Given the description of an element on the screen output the (x, y) to click on. 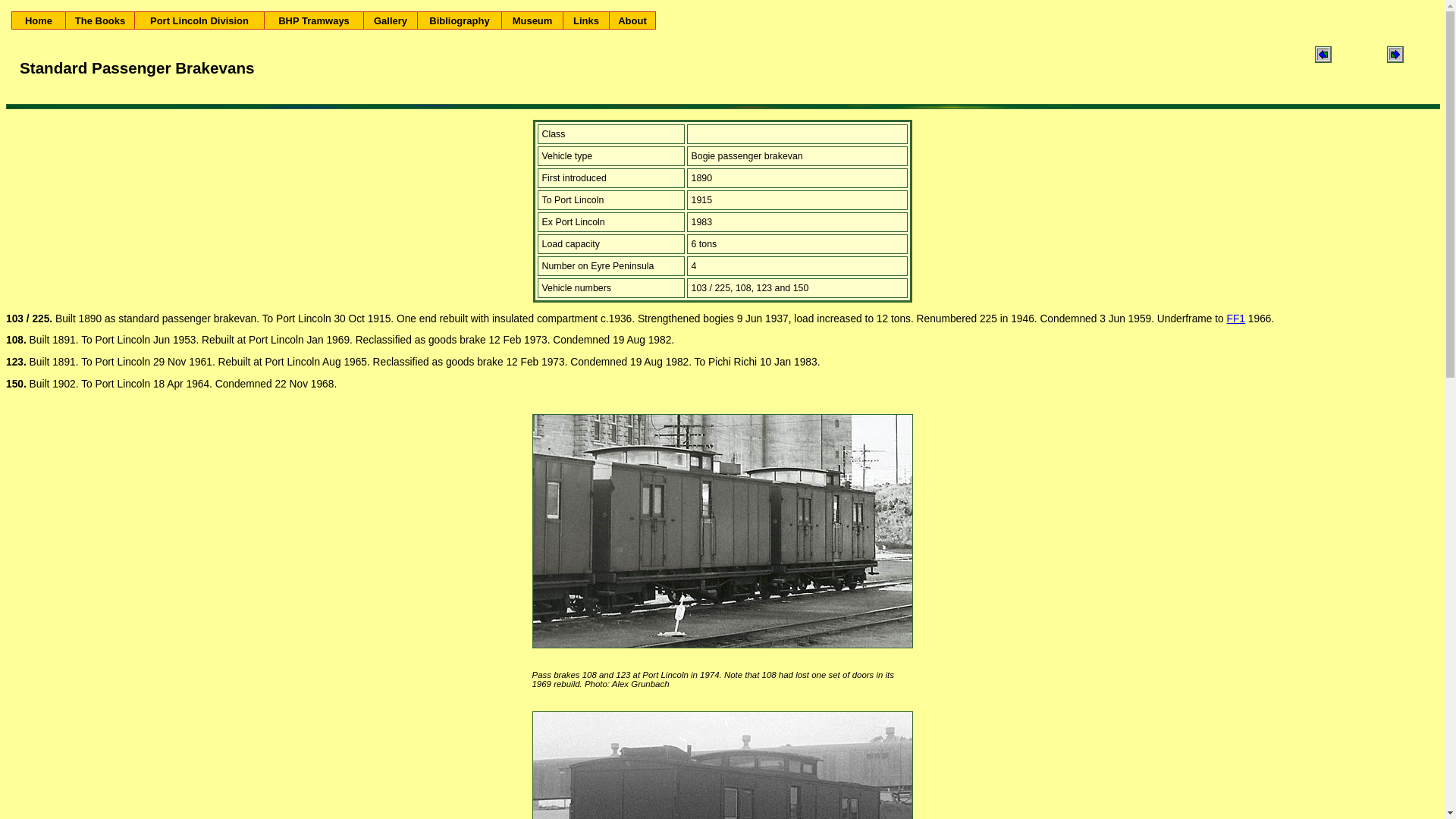
Gallery Element type: text (390, 20)
Museum Element type: text (532, 20)
Home Element type: text (38, 20)
BHP Tramways Element type: text (313, 20)
FF1 Element type: text (1235, 318)
The Books Element type: text (99, 20)
Port Lincoln Division Element type: text (198, 20)
Bibliography Element type: text (459, 20)
About Element type: text (632, 20)
Links Element type: text (585, 20)
